Given the description of an element on the screen output the (x, y) to click on. 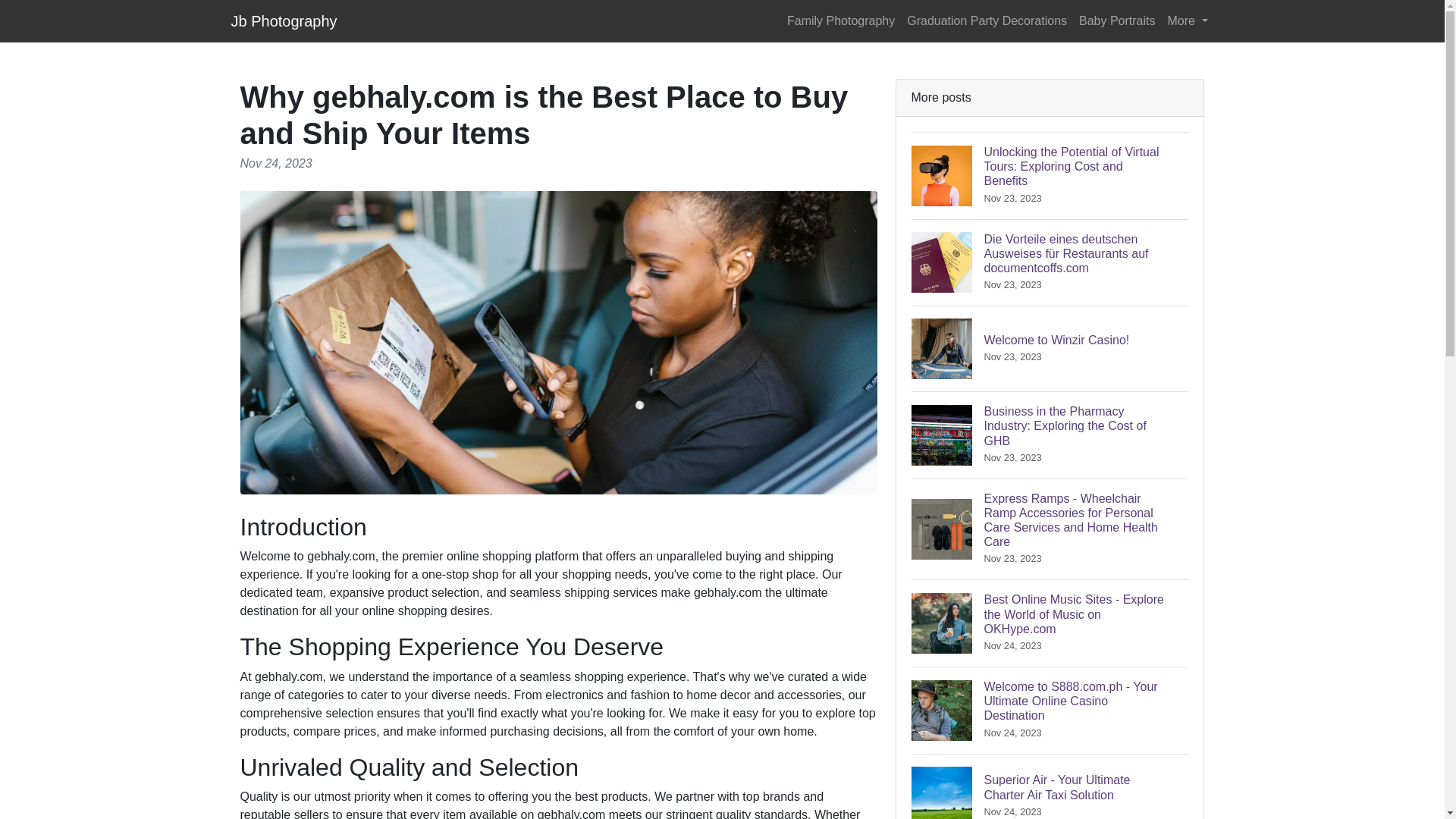
Graduation Party Decorations (987, 20)
Jb Photography (283, 20)
Baby Portraits (1116, 20)
More (1187, 20)
Family Photography (840, 20)
